Given the description of an element on the screen output the (x, y) to click on. 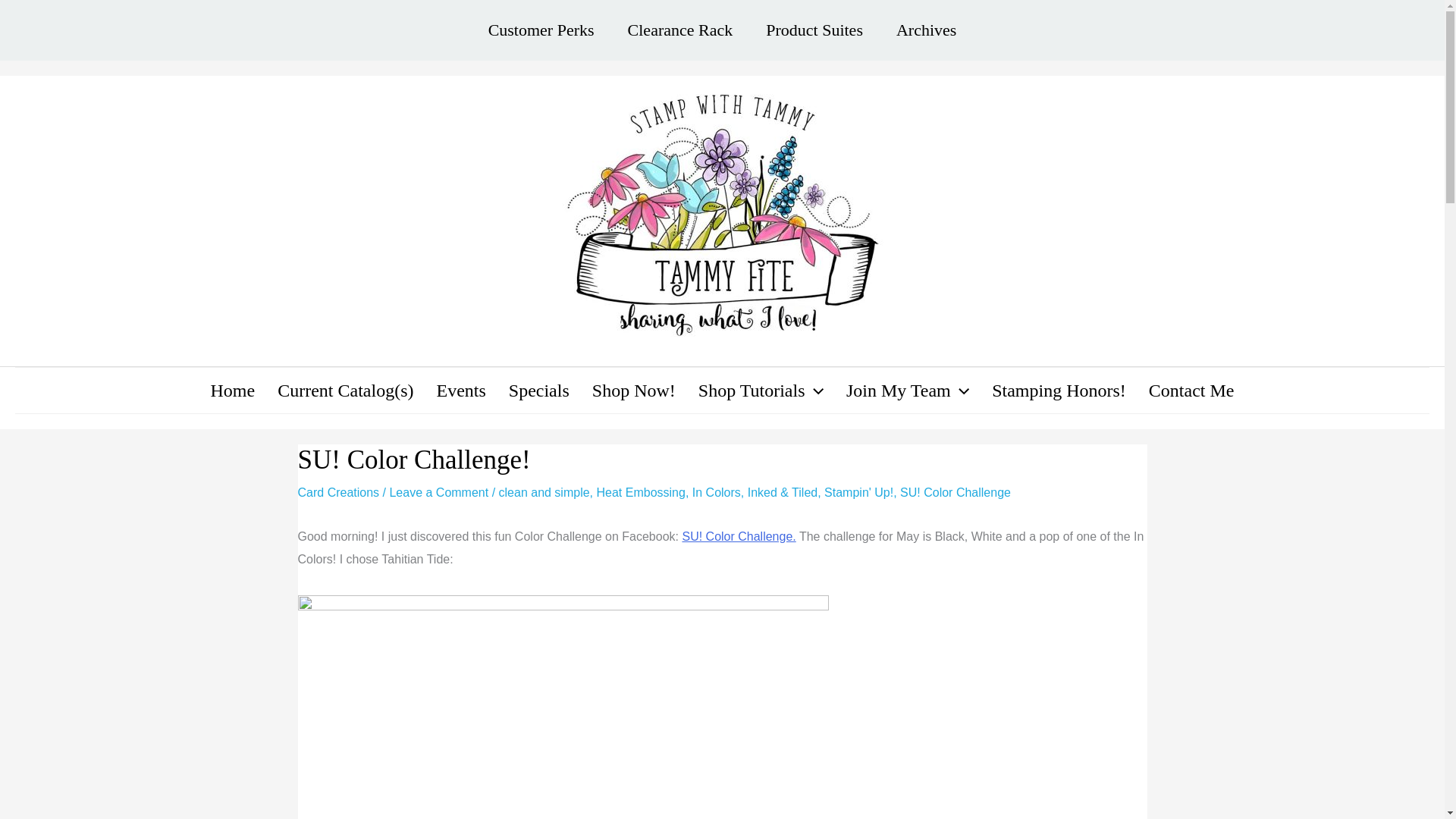
Stampin' Up! (858, 492)
Shop Now! (633, 390)
Events (460, 390)
Specials (538, 390)
In Colors (717, 492)
Card Creations (337, 492)
Stamping Honors! (1058, 390)
Home (232, 390)
Contact Me (1191, 390)
Product Suites (814, 30)
